Given the description of an element on the screen output the (x, y) to click on. 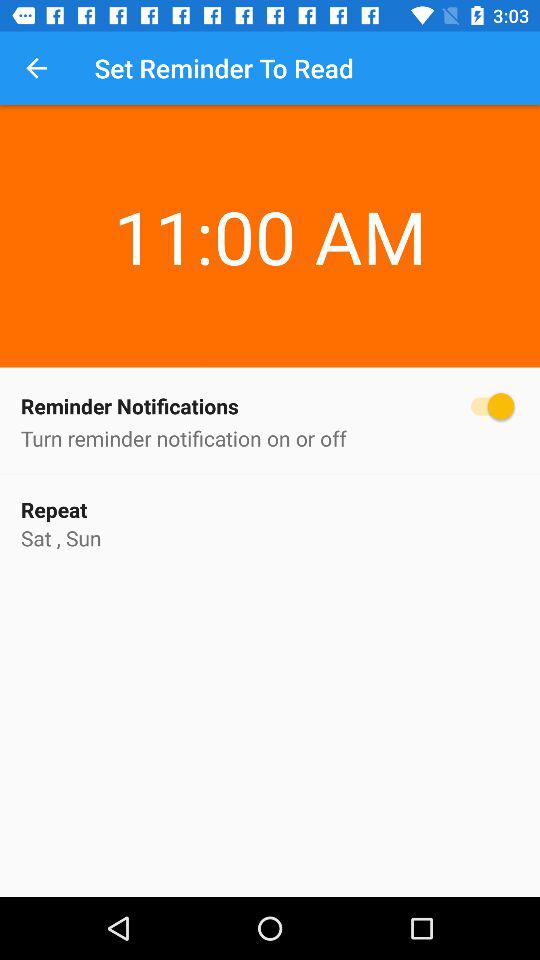
flip until the 11:00 am icon (270, 199)
